Given the description of an element on the screen output the (x, y) to click on. 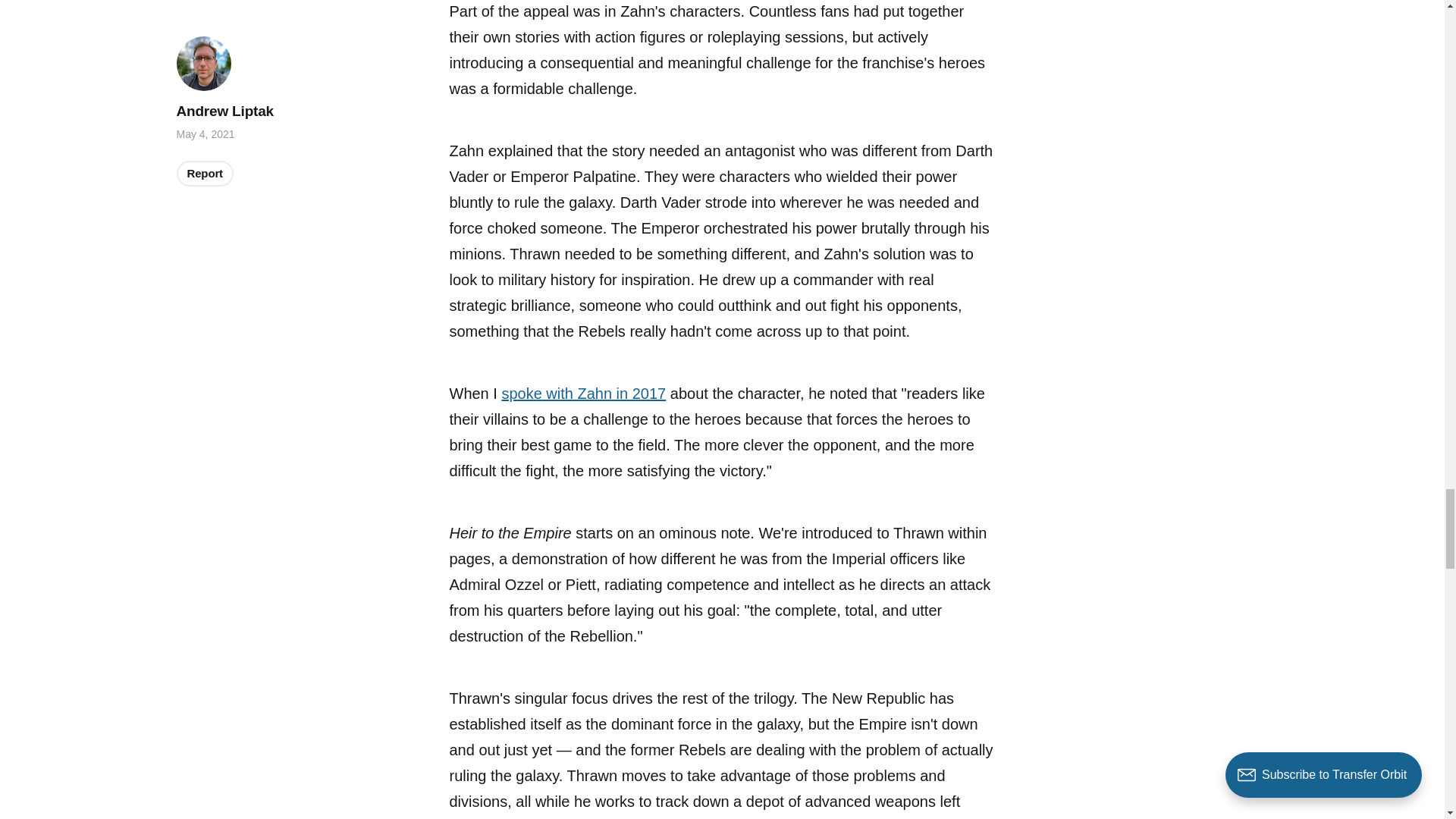
spoke with Zahn in 2017 (582, 393)
